Given the description of an element on the screen output the (x, y) to click on. 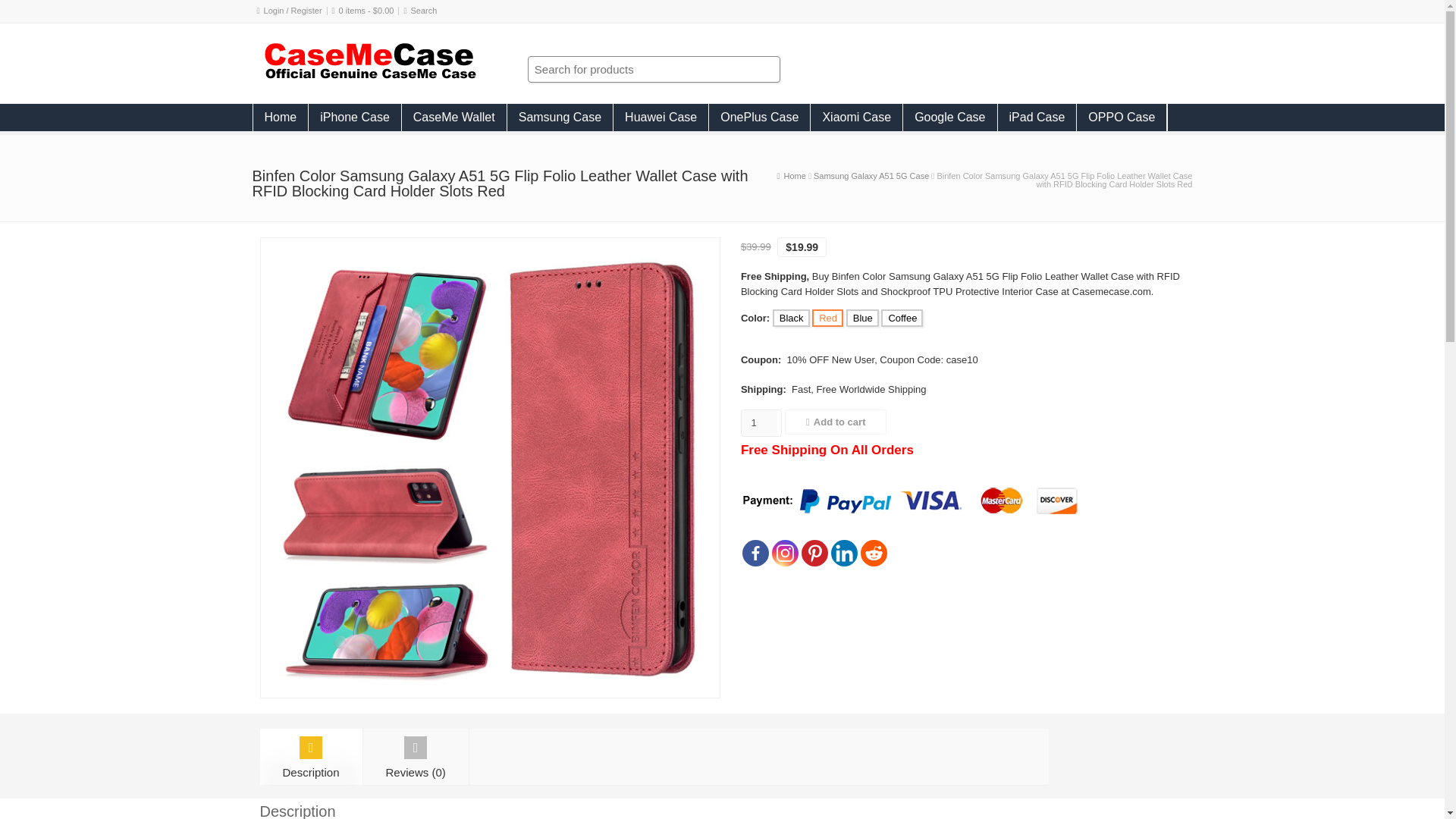
Pinterest (815, 552)
Facebook (755, 552)
Home (280, 117)
Reddit (873, 552)
Official CaseMe Case (369, 76)
Linkedin (844, 552)
1 (759, 422)
Instagram (784, 552)
View your shopping cart (366, 10)
Search (424, 10)
